Given the description of an element on the screen output the (x, y) to click on. 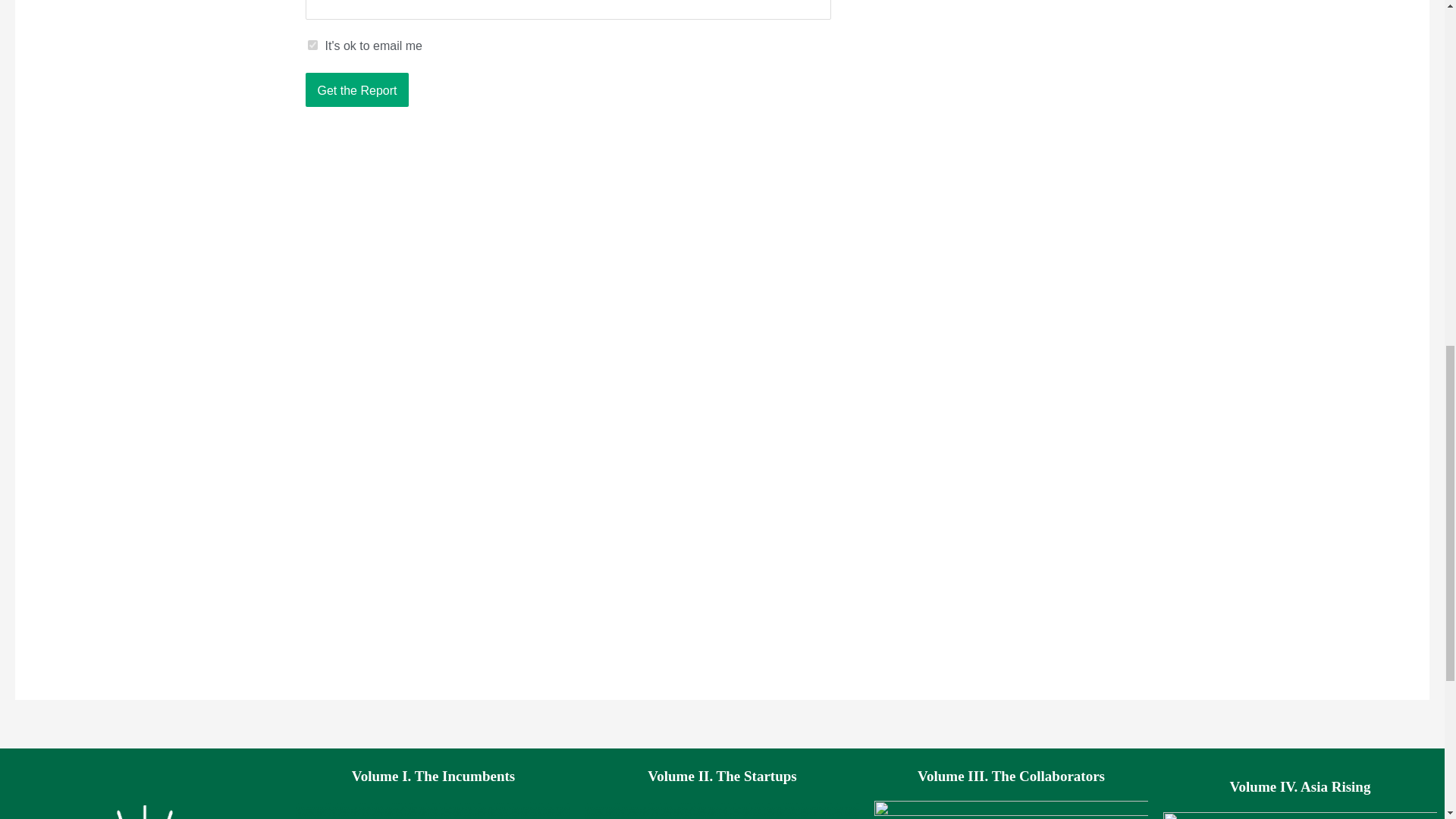
1 (312, 44)
Get the Report (356, 89)
